Given the description of an element on the screen output the (x, y) to click on. 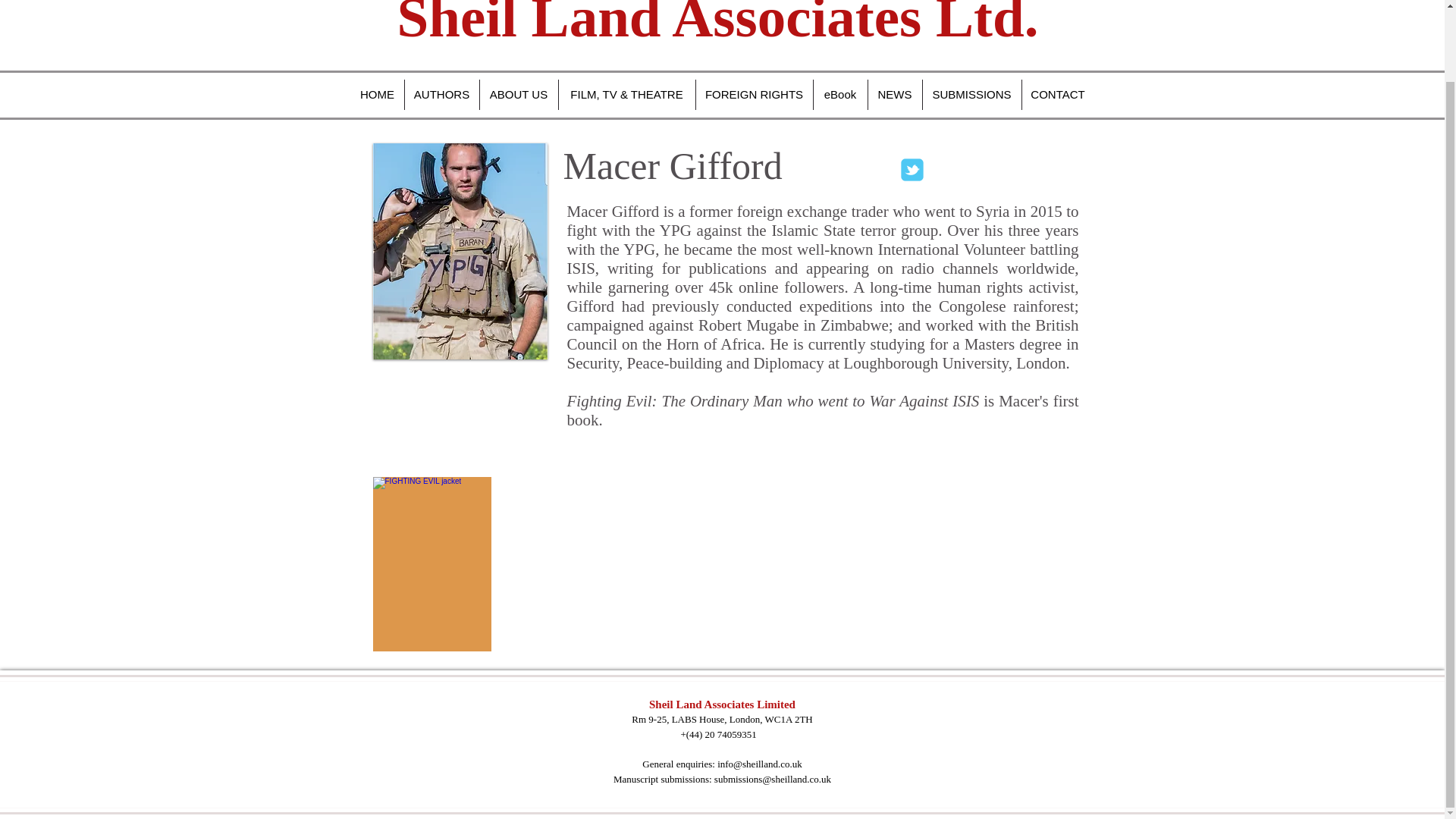
CONTACT (1058, 94)
ABOUT US (518, 94)
FOREIGN RIGHTS (753, 94)
NEWS (894, 94)
eBook (839, 94)
HOME (376, 94)
AUTHORS (441, 94)
SUBMISSIONS (970, 94)
